Given the description of an element on the screen output the (x, y) to click on. 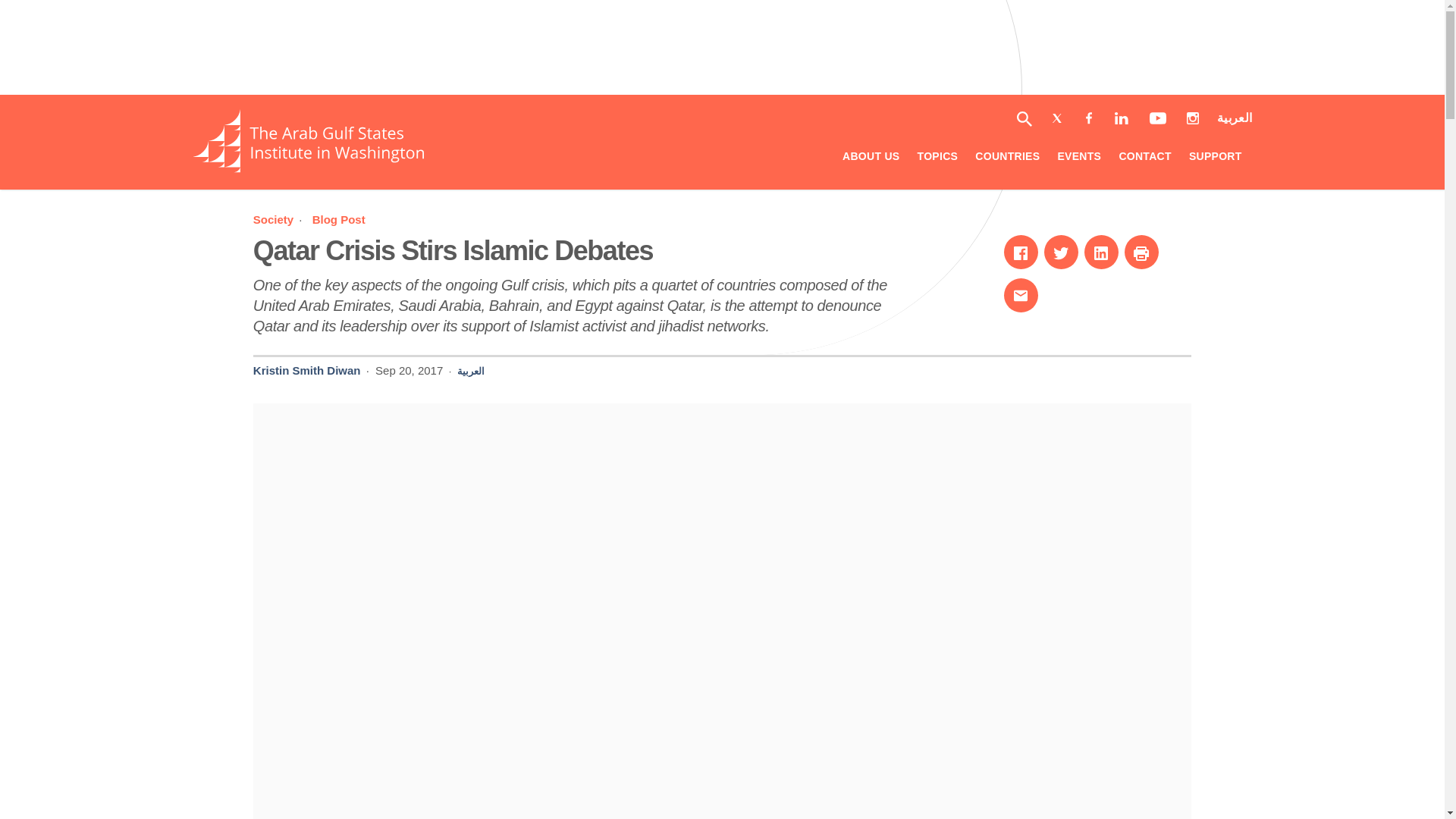
TOPICS (937, 157)
The Arab Gulf States Institute in Washington (307, 168)
SUPPORT (1215, 157)
Click to share on Twitter (1060, 252)
EVENTS (1078, 157)
CONTACT (1144, 157)
Click to print (1141, 252)
Qatar Crisis Stirs Islamic Debates (452, 250)
COUNTRIES (279, 219)
Click to share on Facebook (339, 219)
Click to share on LinkedIn (1007, 157)
